Given the description of an element on the screen output the (x, y) to click on. 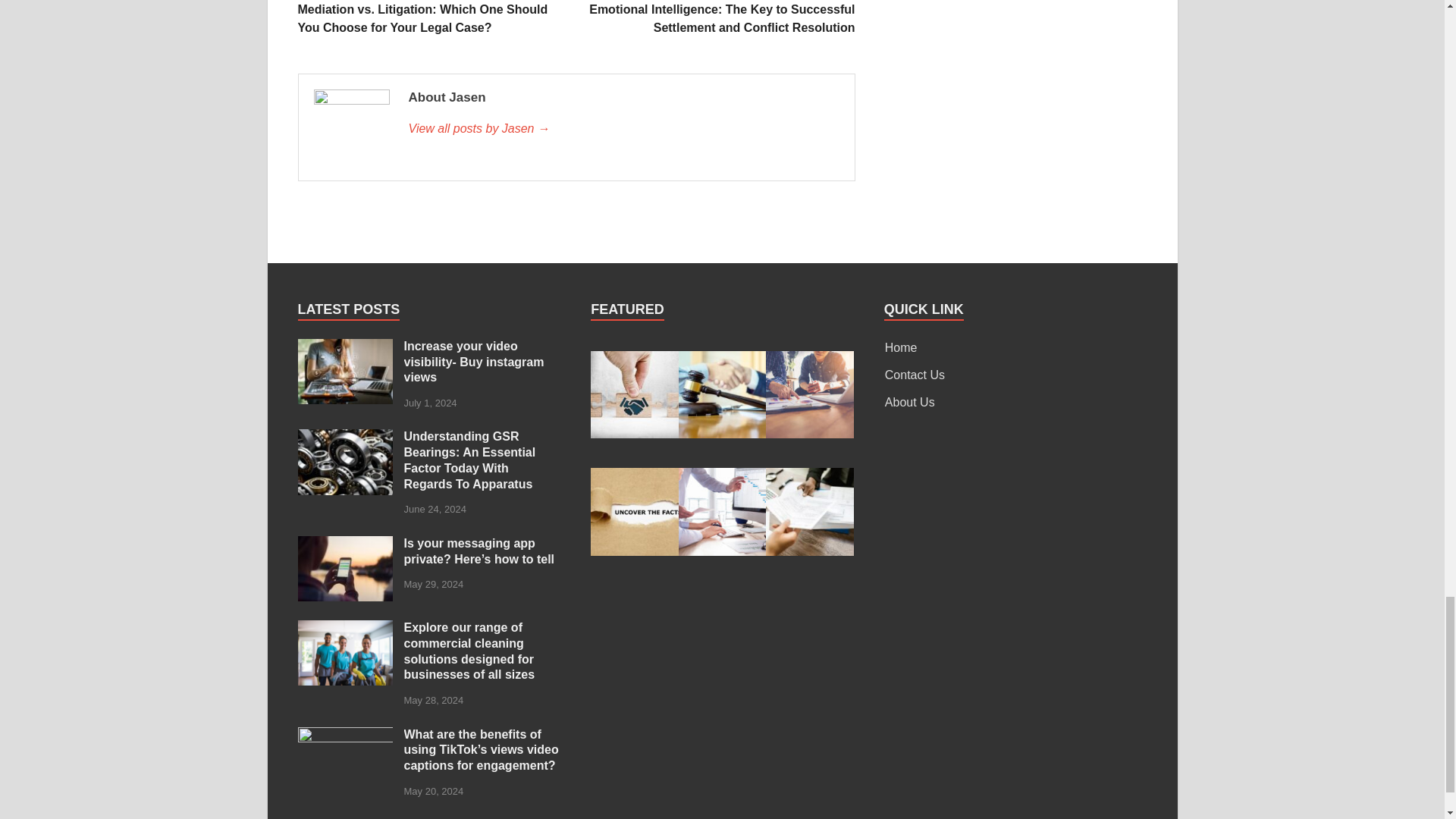
Jasen (622, 128)
